Given the description of an element on the screen output the (x, y) to click on. 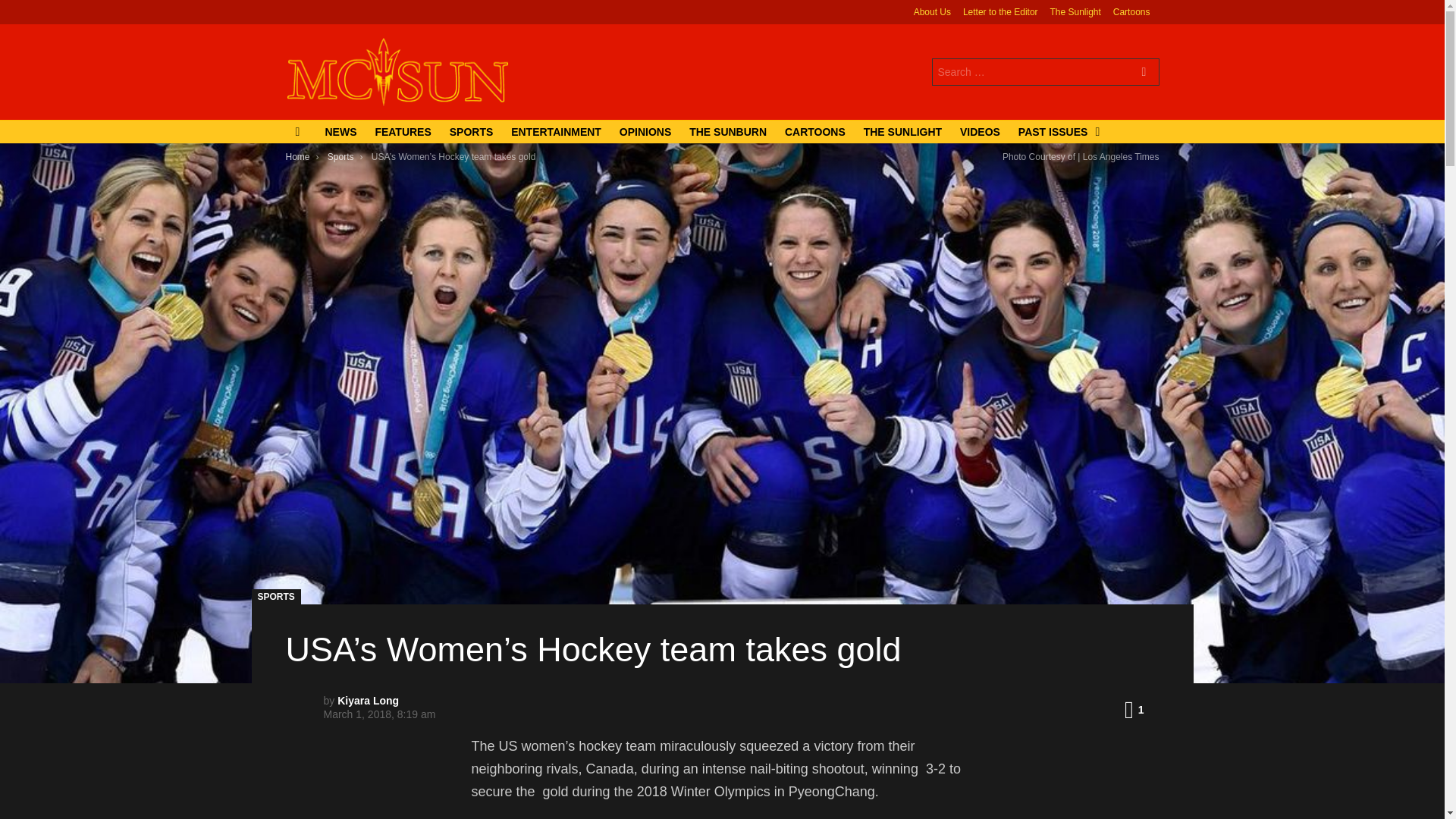
ENTERTAINMENT (555, 131)
Posts by Kiyara Long (367, 700)
Cartoons (1131, 12)
About Us (932, 12)
Letter to the Editor (1000, 12)
SPORTS (471, 131)
PAST ISSUES (1055, 131)
OPINIONS (644, 131)
Past Issues (1055, 131)
The Sunlight (1074, 12)
SEARCH (1143, 73)
THE SUNBURN (727, 131)
Sports (340, 156)
Home (296, 156)
Search for: (1044, 71)
